Given the description of an element on the screen output the (x, y) to click on. 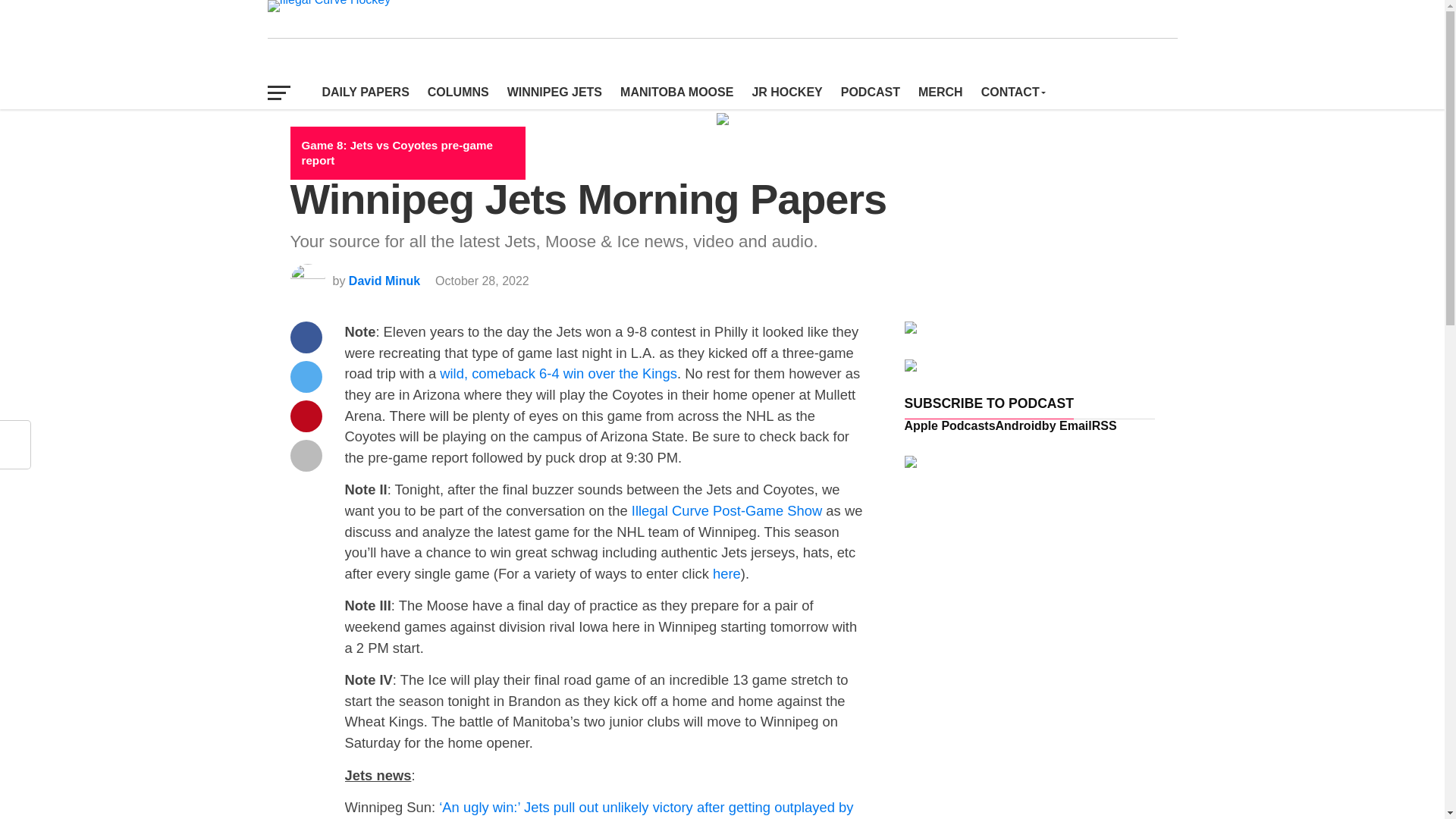
Subscribe on Android (1018, 425)
MANITOBA MOOSE (676, 92)
COLUMNS (458, 92)
Subscribe by Email (1067, 425)
David Minuk (384, 280)
MERCH (940, 92)
Posts by David Minuk (384, 280)
Subscribe on Apple Podcasts (949, 425)
DAILY PAPERS (365, 92)
JR HOCKEY (786, 92)
